Given the description of an element on the screen output the (x, y) to click on. 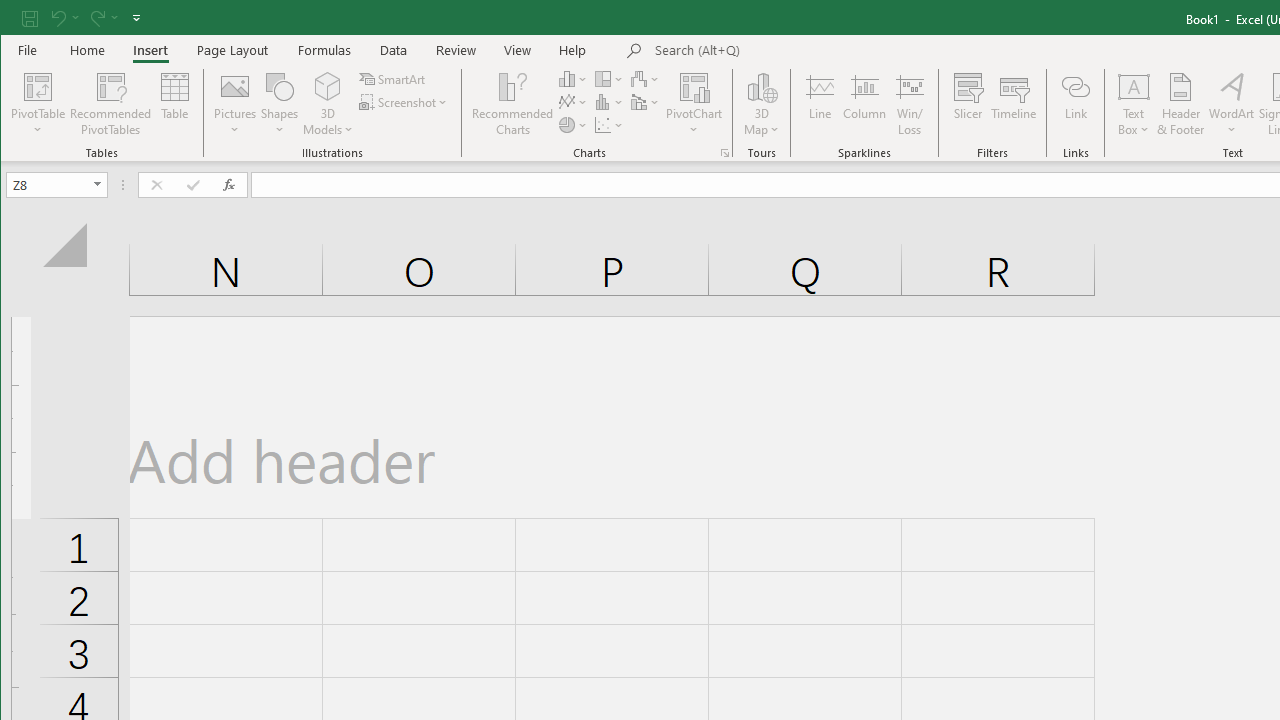
Draw Horizontal Text Box (1133, 86)
Slicer... (968, 104)
Insert (150, 50)
Link (1075, 104)
Review (456, 50)
System (18, 18)
Column (864, 104)
Win/Loss (909, 104)
Recommended PivotTables (110, 104)
Page Layout (231, 50)
Line (819, 104)
Insert Waterfall, Funnel, Stock, Surface, or Radar Chart (646, 78)
